Given the description of an element on the screen output the (x, y) to click on. 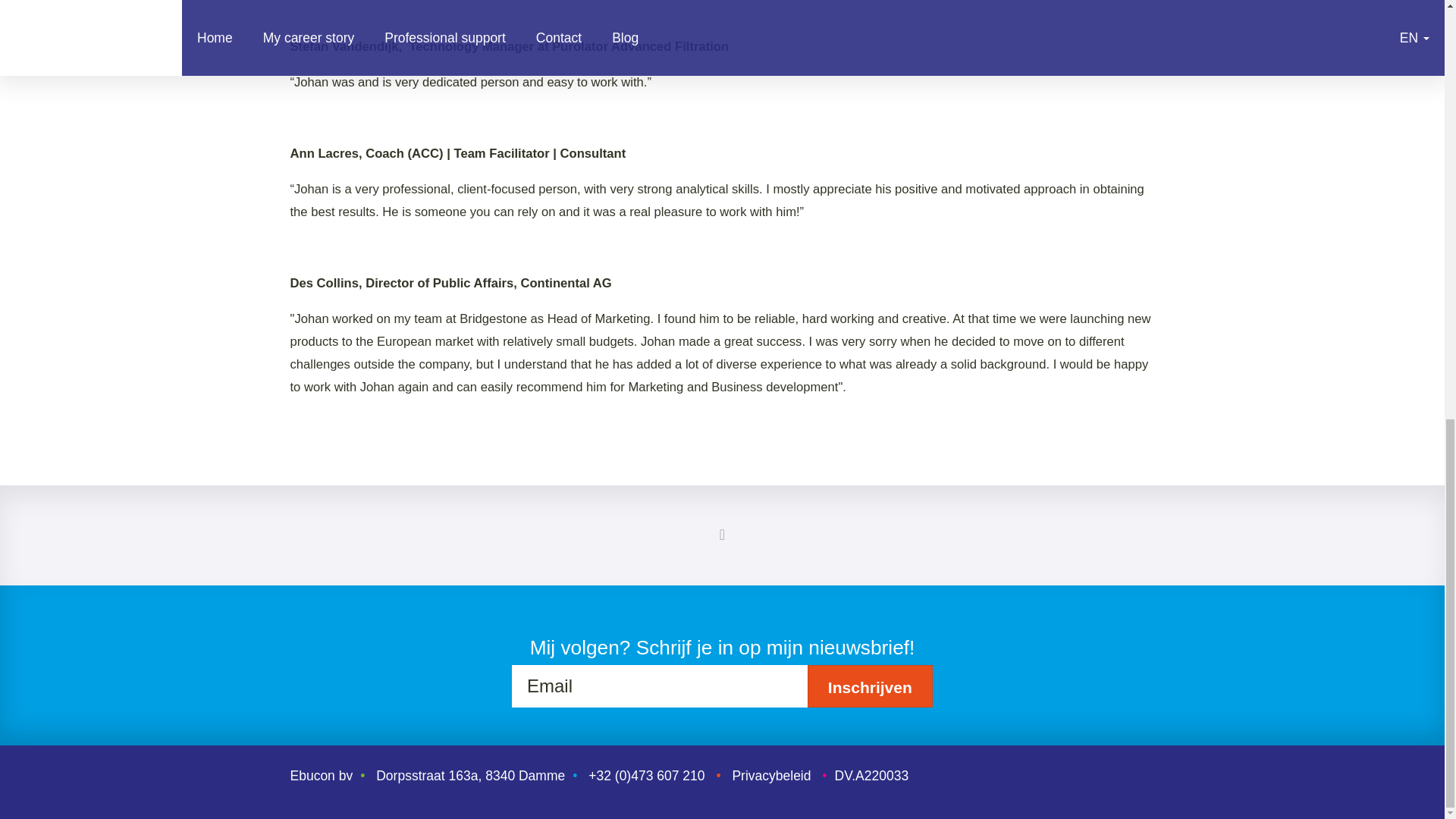
Inschrijven (870, 686)
blog (721, 534)
Privacybeleid (771, 775)
